Given the description of an element on the screen output the (x, y) to click on. 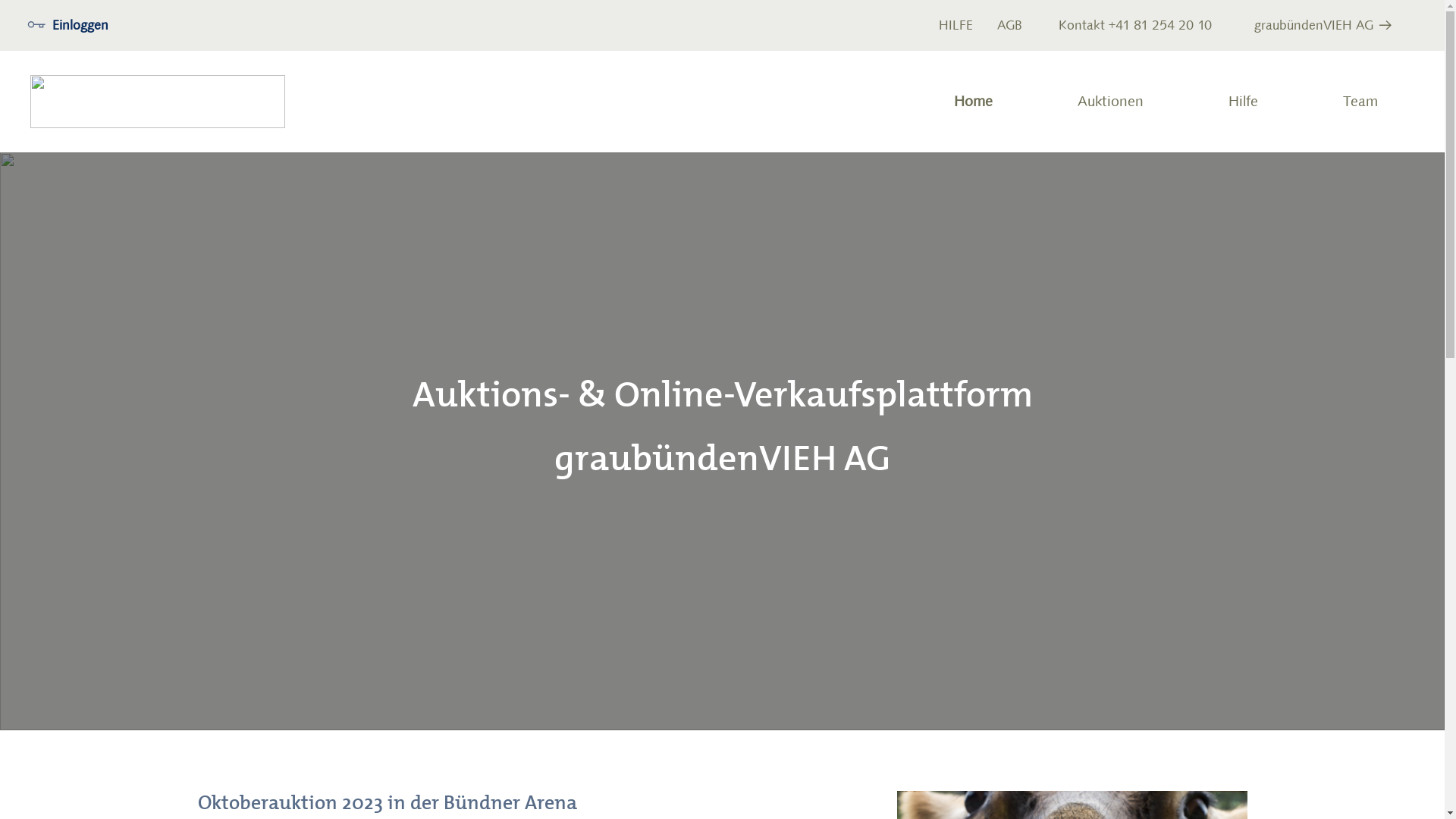
Team Element type: text (1360, 101)
Einloggen Element type: text (67, 25)
Hilfe Element type: text (1243, 101)
HILFE Element type: text (955, 25)
Auktionen Element type: text (1110, 101)
Home Element type: text (973, 101)
Kontakt +41 81 254 20 10 Element type: text (1134, 25)
AGB Element type: text (1009, 25)
